Given the description of an element on the screen output the (x, y) to click on. 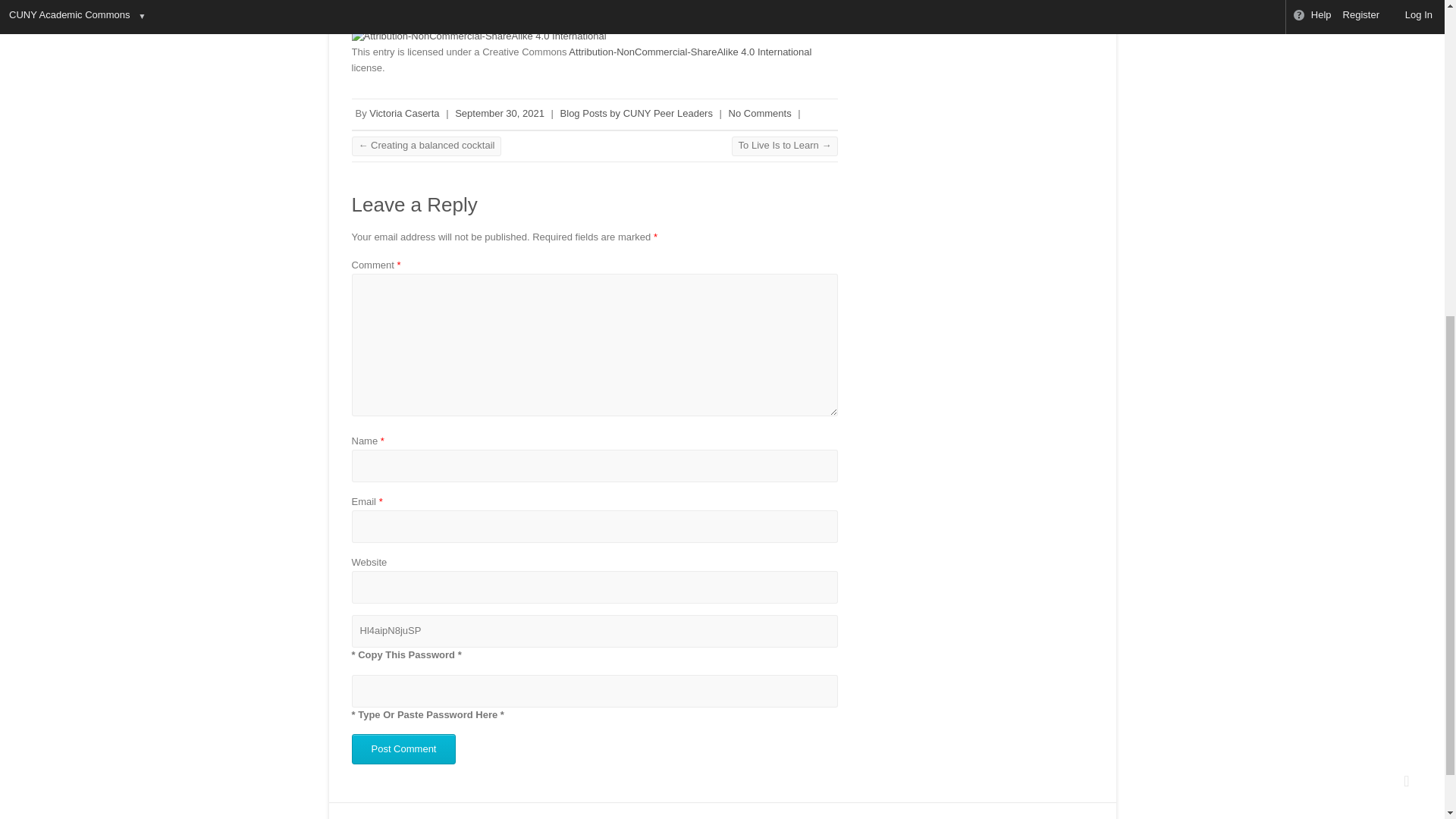
Share on Linkedin (446, 6)
6:18 pm (499, 112)
Share on Facebook (368, 6)
Share on Twitter (407, 6)
Victoria Caserta (404, 112)
Post Comment (404, 748)
Blog Posts by CUNY Peer Leaders (636, 112)
Post Comment (404, 748)
September 30, 2021 (499, 112)
Hl4aipN8juSP (595, 631)
